Given the description of an element on the screen output the (x, y) to click on. 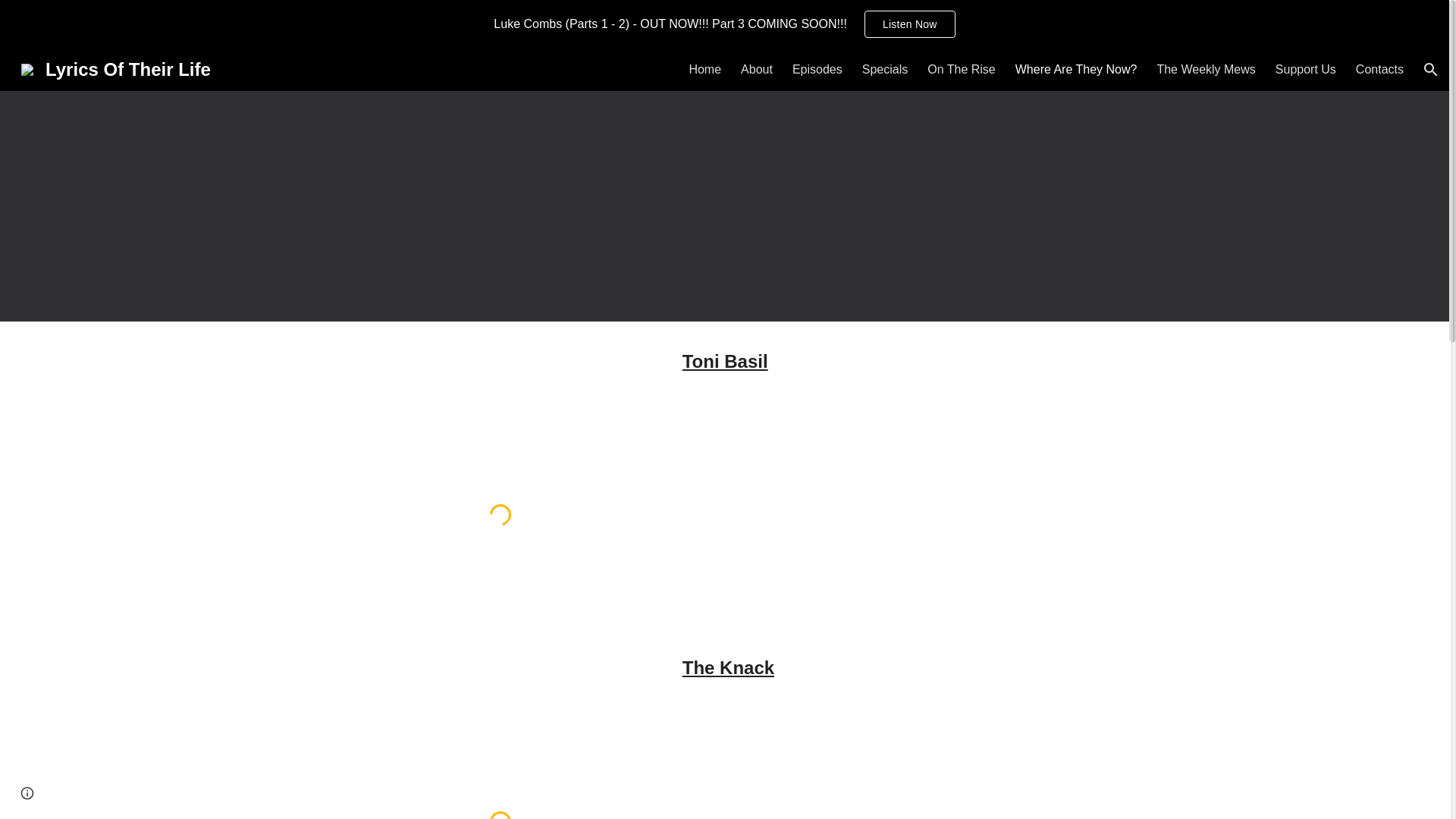
Home (704, 69)
About (757, 69)
Specials (884, 69)
Lyrics Of Their Life (115, 67)
On The Rise (961, 69)
Where Are They Now? (1075, 69)
Custom embed (499, 772)
Custom embed (499, 514)
Listen Now (909, 23)
Support Us (1305, 69)
Listen Now (909, 23)
Contacts (1379, 69)
Episodes (817, 69)
The Weekly Mews (1205, 69)
